Given the description of an element on the screen output the (x, y) to click on. 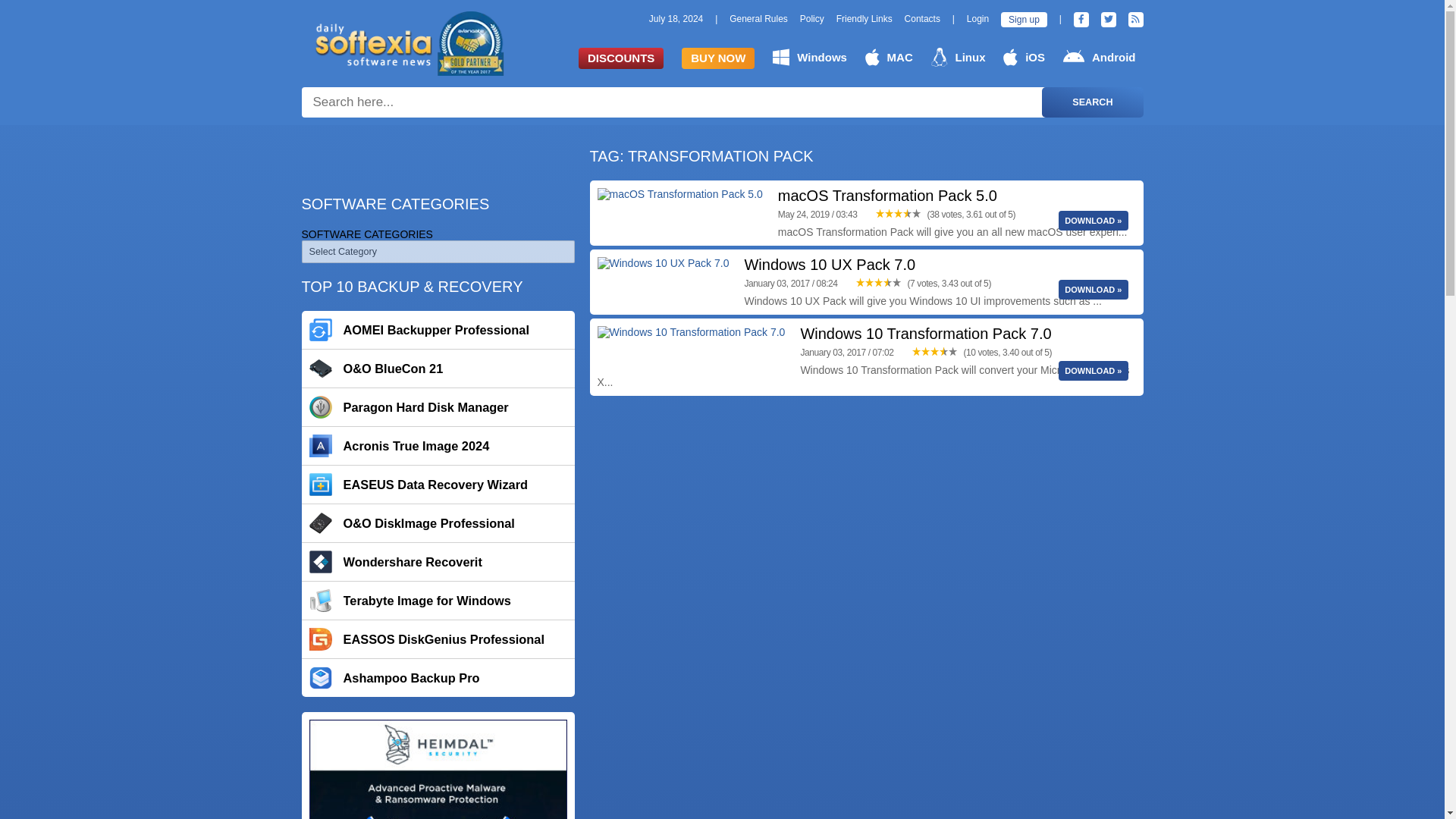
General Rules (758, 18)
AOMEI Backupper Professional (437, 329)
SEARCH (1092, 101)
Terabyte Image for Windows (437, 599)
DISCOUNTS (620, 57)
Linux (958, 56)
Facebook (1081, 19)
Acronis True Image 2024 (437, 445)
EASSOS DiskGenius Professional (437, 639)
MAC (888, 56)
Contacts (922, 18)
BUY NOW (717, 57)
EASEUS Data Recovery Wizard (437, 484)
EASSOS DiskGenius Professional (437, 639)
Ashampoo Backup Pro (437, 677)
